Given the description of an element on the screen output the (x, y) to click on. 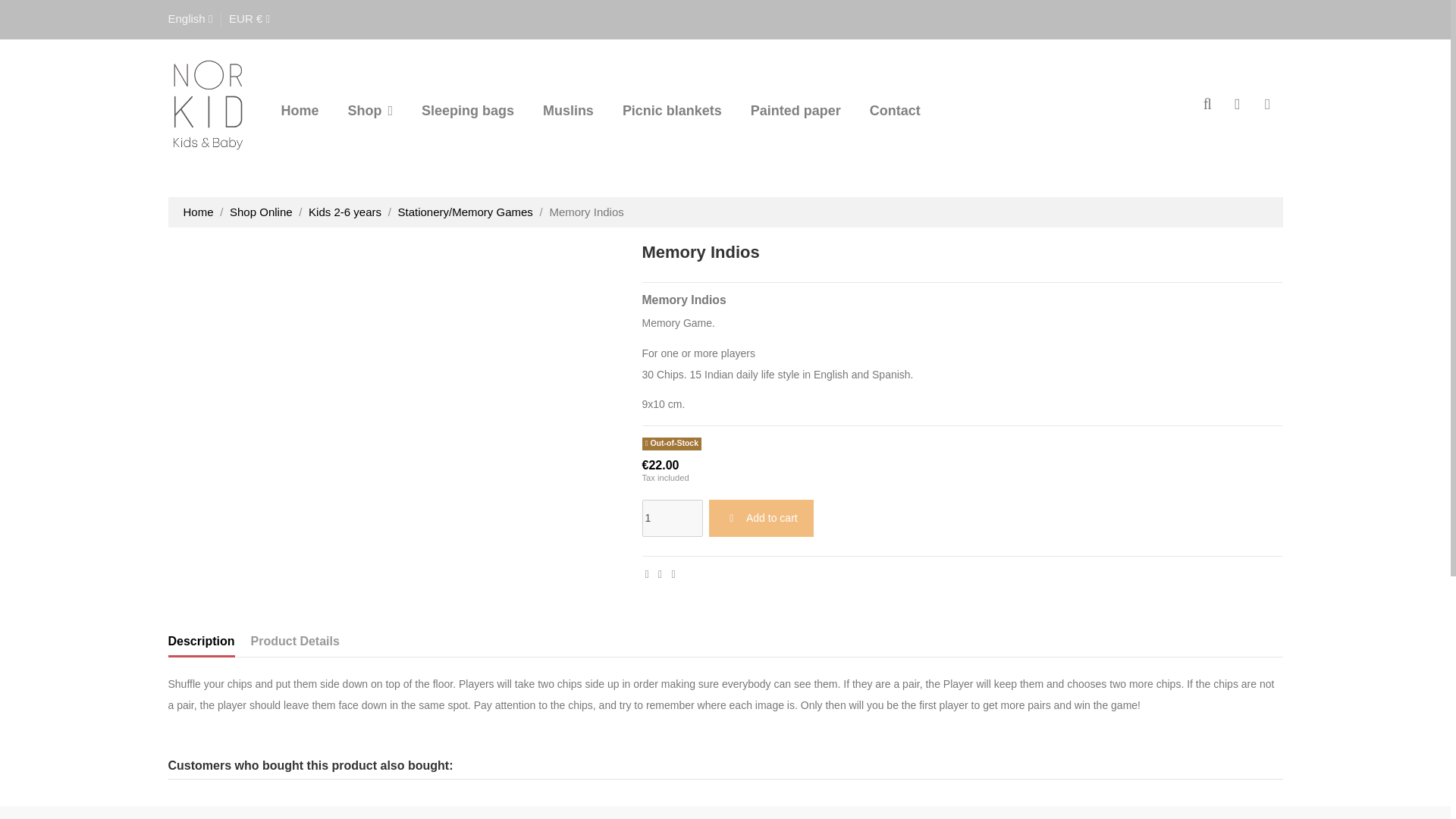
Painted paper (795, 110)
1 (671, 518)
Contact (895, 110)
Sleeping bags (467, 110)
Log in to your customer account (1237, 104)
English (190, 18)
Home (299, 110)
Muslins (568, 110)
Shop (369, 110)
Picnic blankets (671, 110)
